Given the description of an element on the screen output the (x, y) to click on. 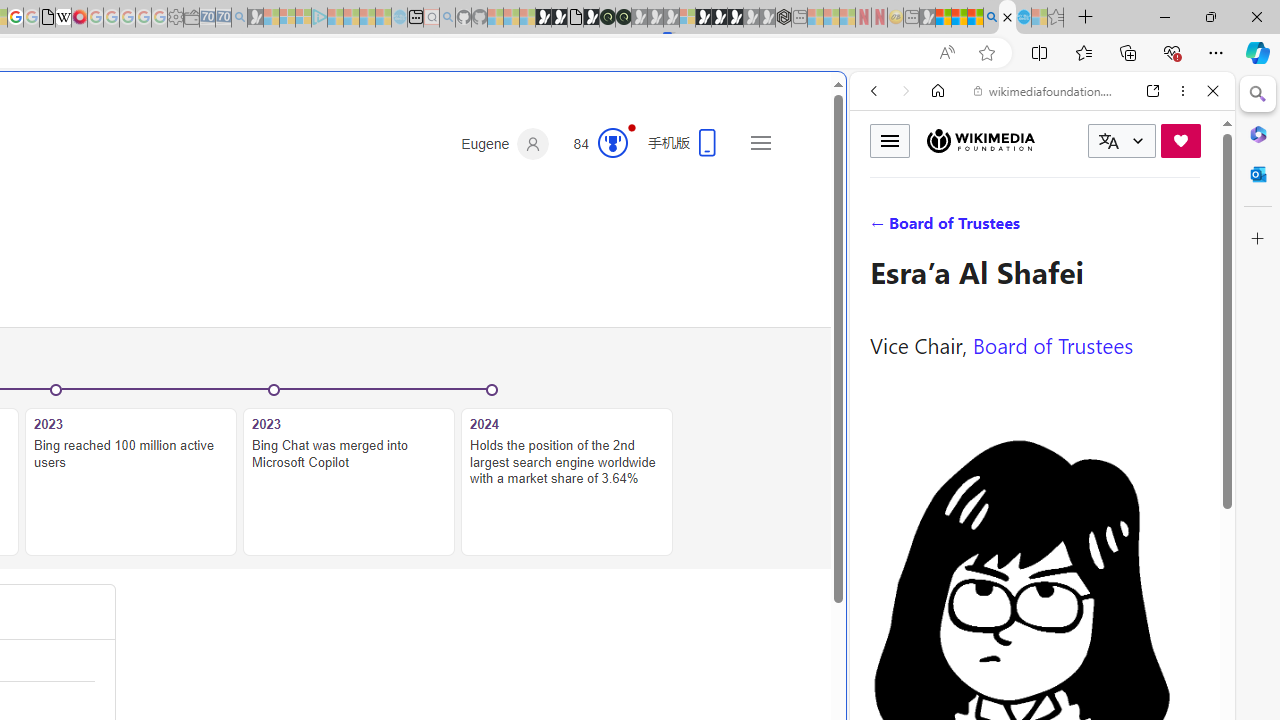
2023Bing Chat was merged into Microsoft Copilot (349, 471)
Microsoft Start Gaming - Sleeping (255, 17)
Play Cave FRVR in your browser | Games from Microsoft Start (343, 426)
2023 Bing reached 100 million active users (130, 481)
Search the web (1051, 137)
Play Zoo Boom in your browser | Games from Microsoft Start (559, 17)
Eugene (505, 143)
